Given the description of an element on the screen output the (x, y) to click on. 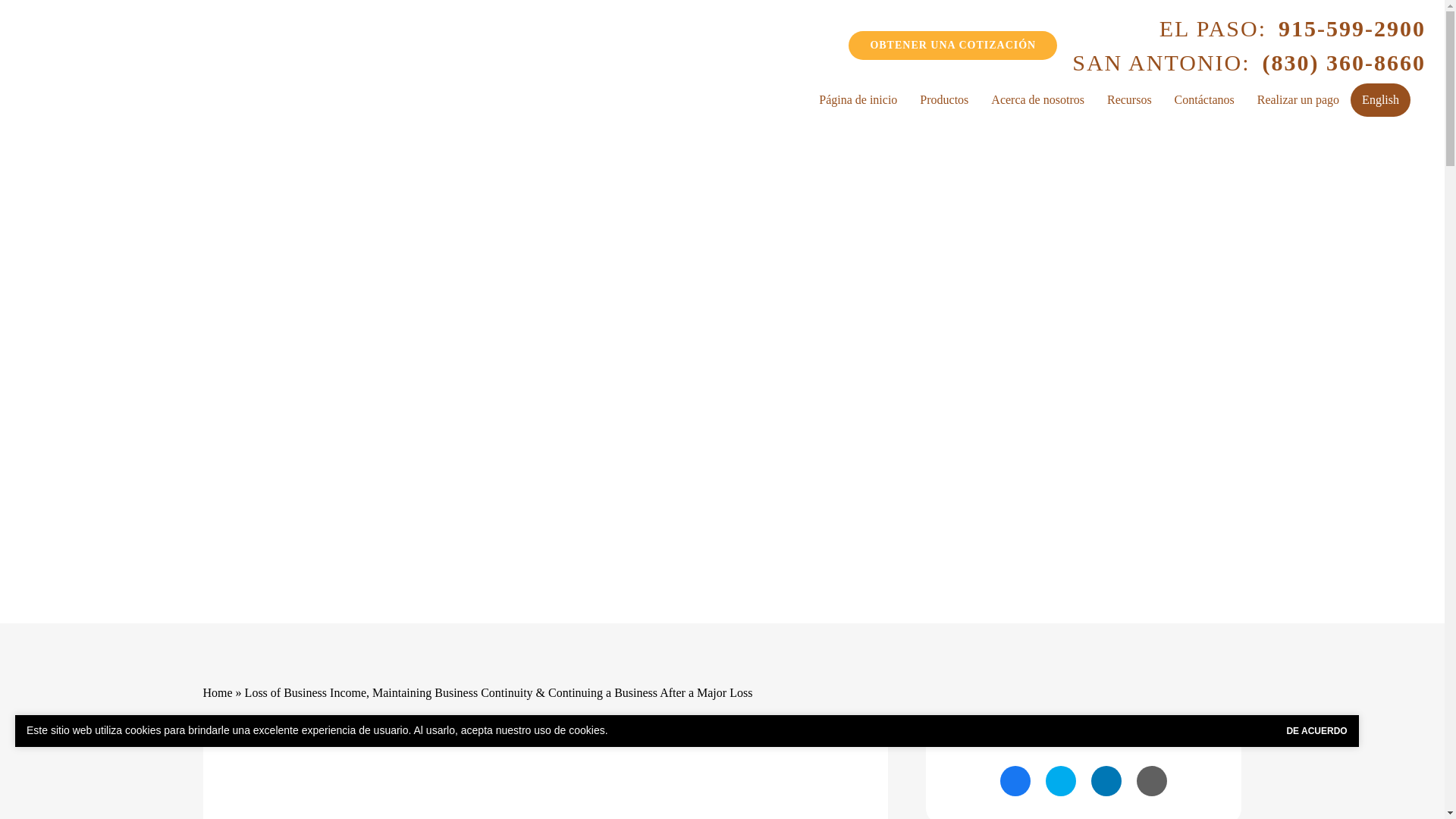
Recursos (1129, 99)
Realizar un pago (1298, 99)
915-599-2900 (1351, 27)
Acerca de nosotros (1037, 99)
Productos (943, 99)
English (1380, 100)
English (1380, 100)
